Given the description of an element on the screen output the (x, y) to click on. 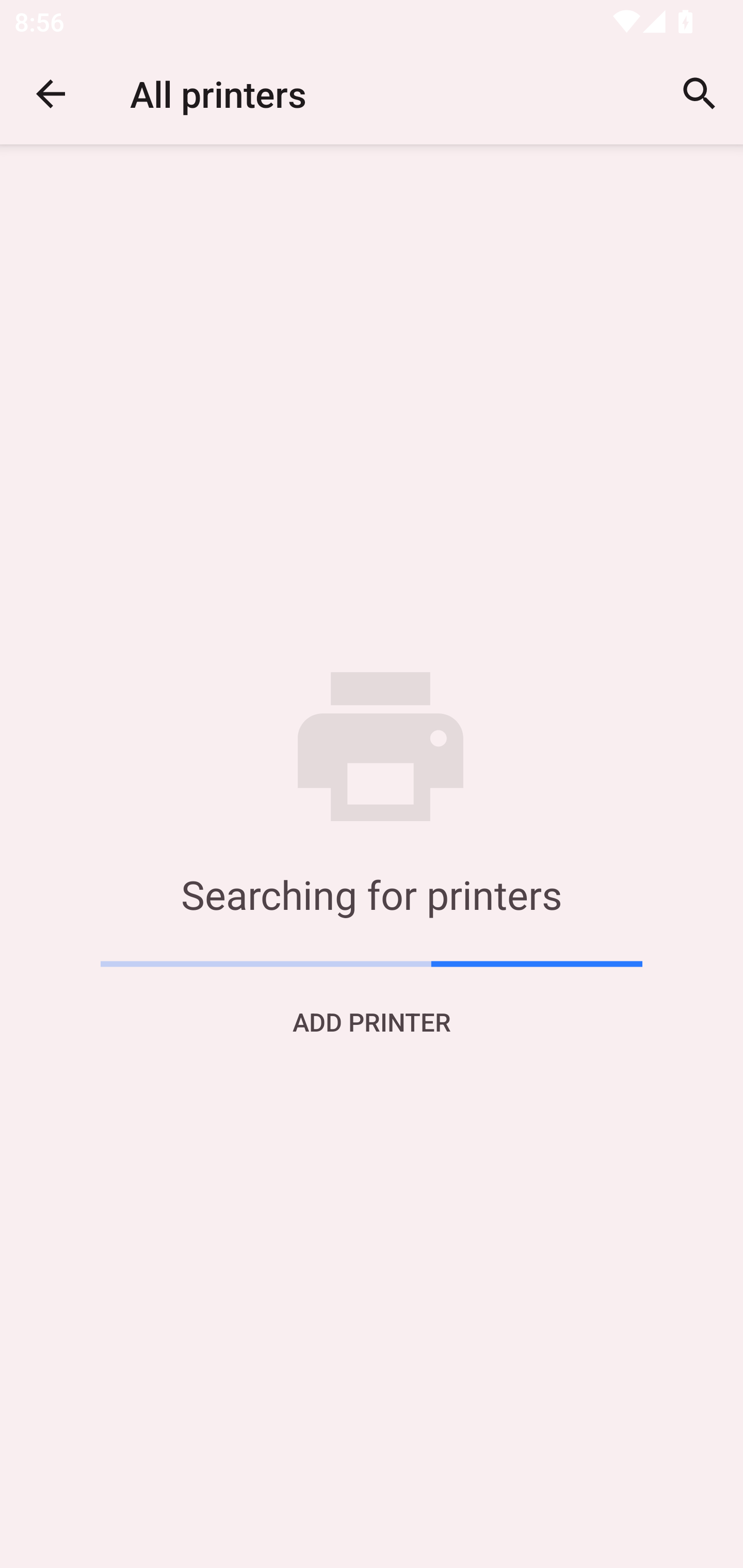
Navigate up (50, 93)
Search (699, 93)
ADD PRINTER (371, 1021)
